Given the description of an element on the screen output the (x, y) to click on. 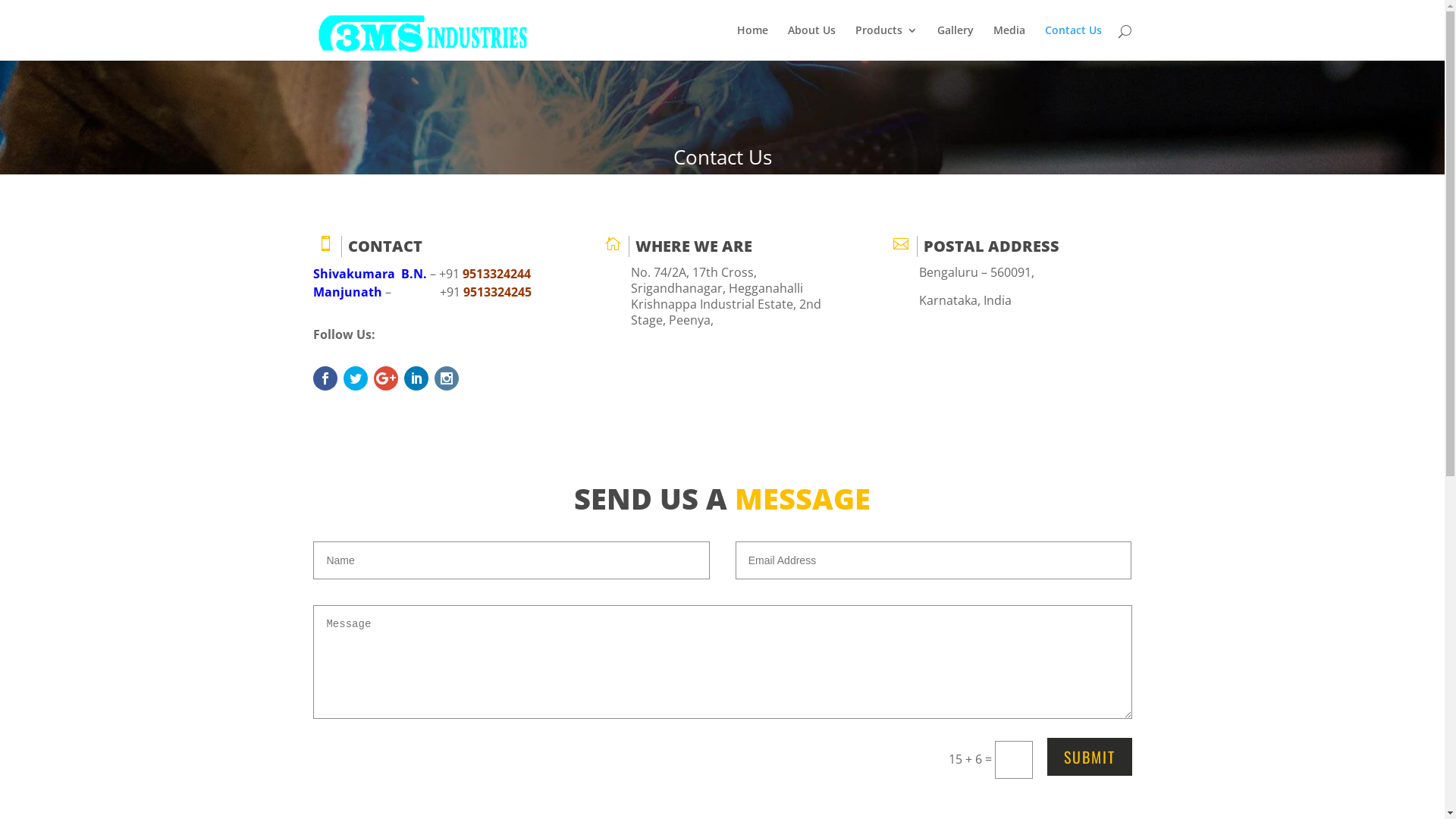
Facebook Element type: hover (324, 378)
Instagram Element type: hover (445, 378)
Media Element type: text (1009, 42)
About Us Element type: text (810, 42)
Contact Us Element type: text (1072, 42)
Gallery Element type: text (955, 42)
Products Element type: text (886, 42)
LinkedIn Element type: hover (415, 378)
Google+ Element type: hover (385, 378)
Twitter Element type: hover (354, 378)
Home Element type: text (752, 42)
SUBMIT Element type: text (1088, 756)
